Given the description of an element on the screen output the (x, y) to click on. 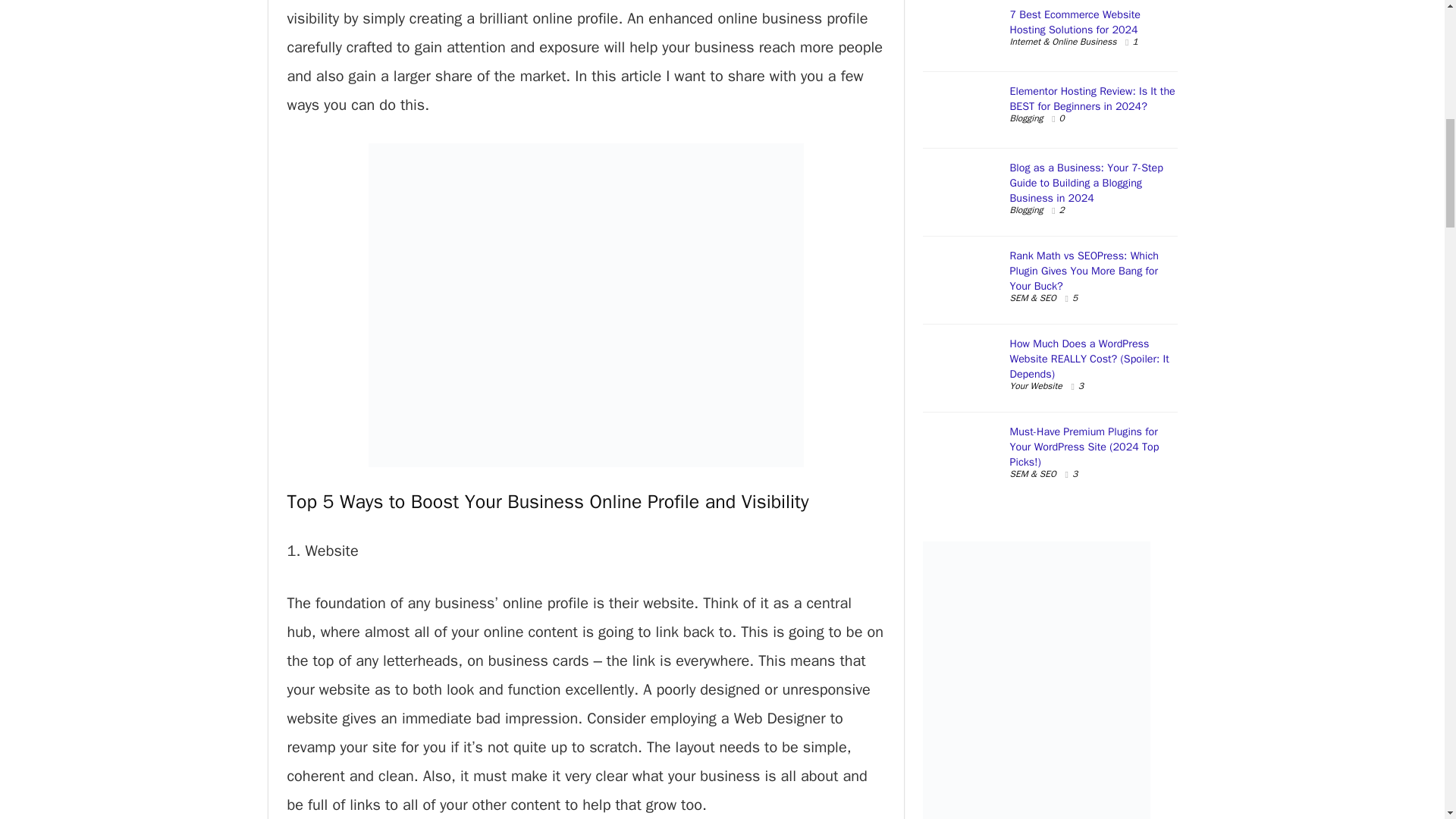
User profile (672, 501)
Profile (672, 501)
